Given the description of an element on the screen output the (x, y) to click on. 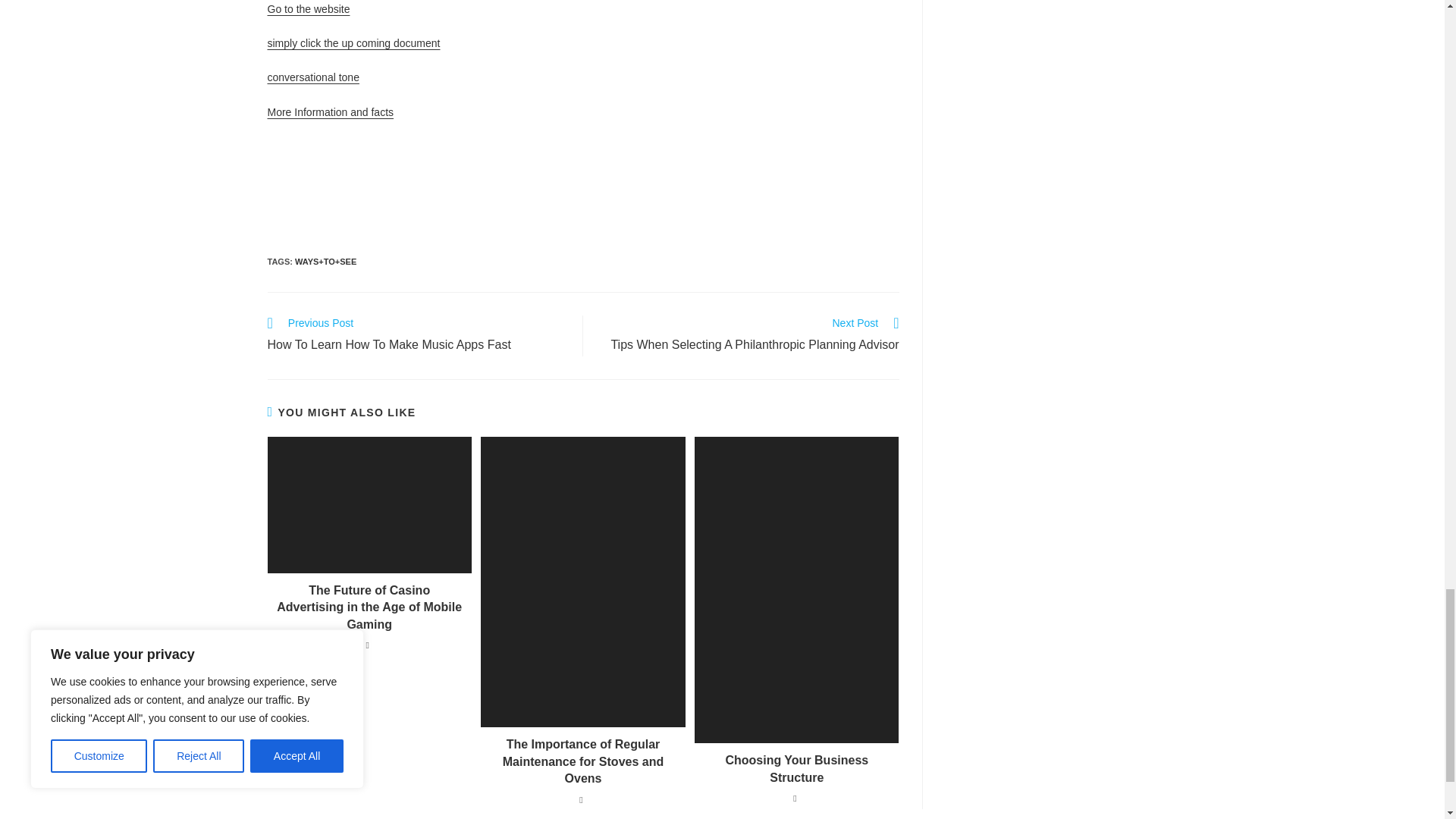
More Information and facts (329, 111)
Go to the website (307, 9)
conversational tone (312, 77)
simply click the up coming document (352, 42)
